Given the description of an element on the screen output the (x, y) to click on. 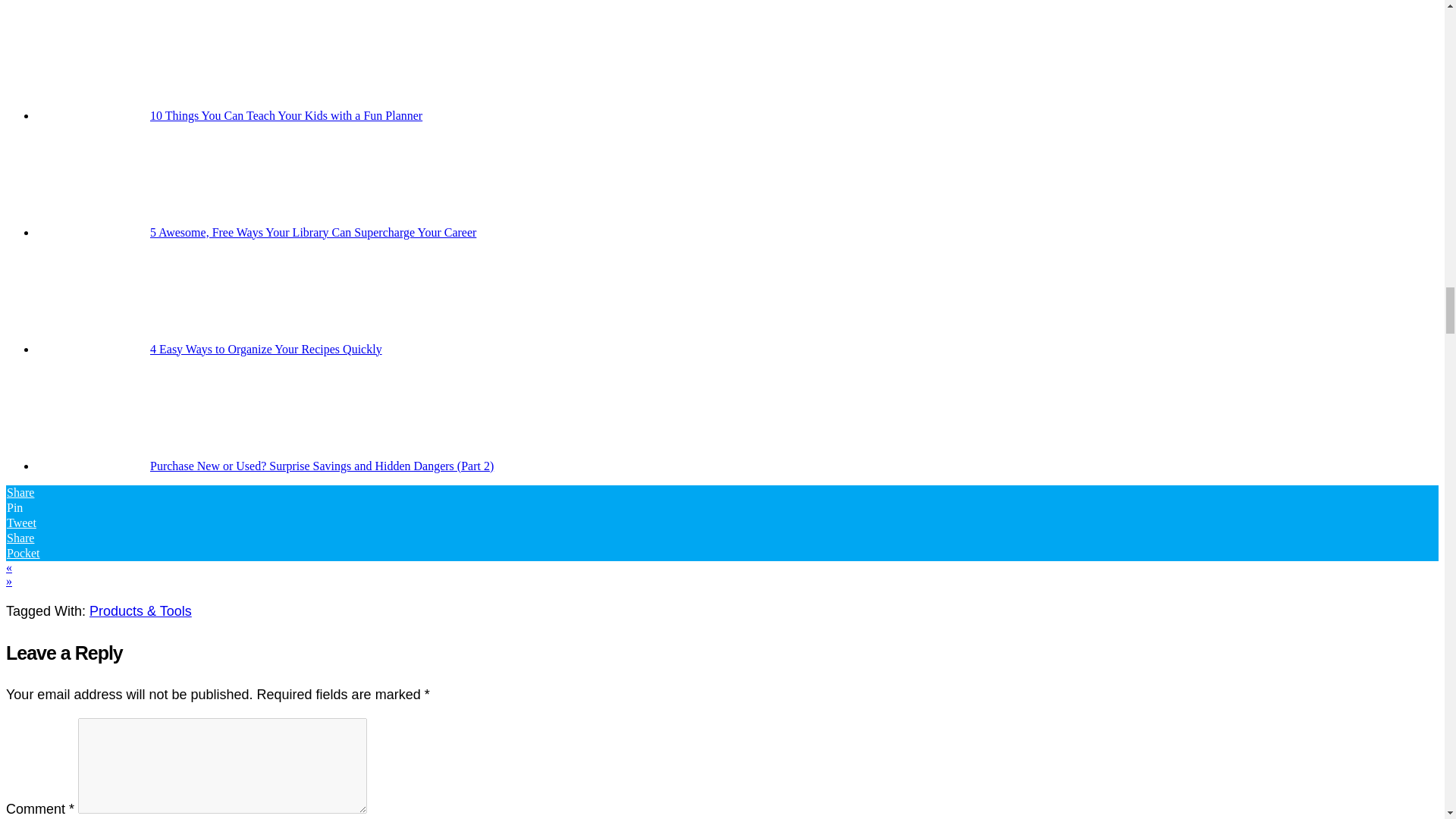
10 Things You Can Teach Your Kids with a Fun Planner (285, 115)
